Given the description of an element on the screen output the (x, y) to click on. 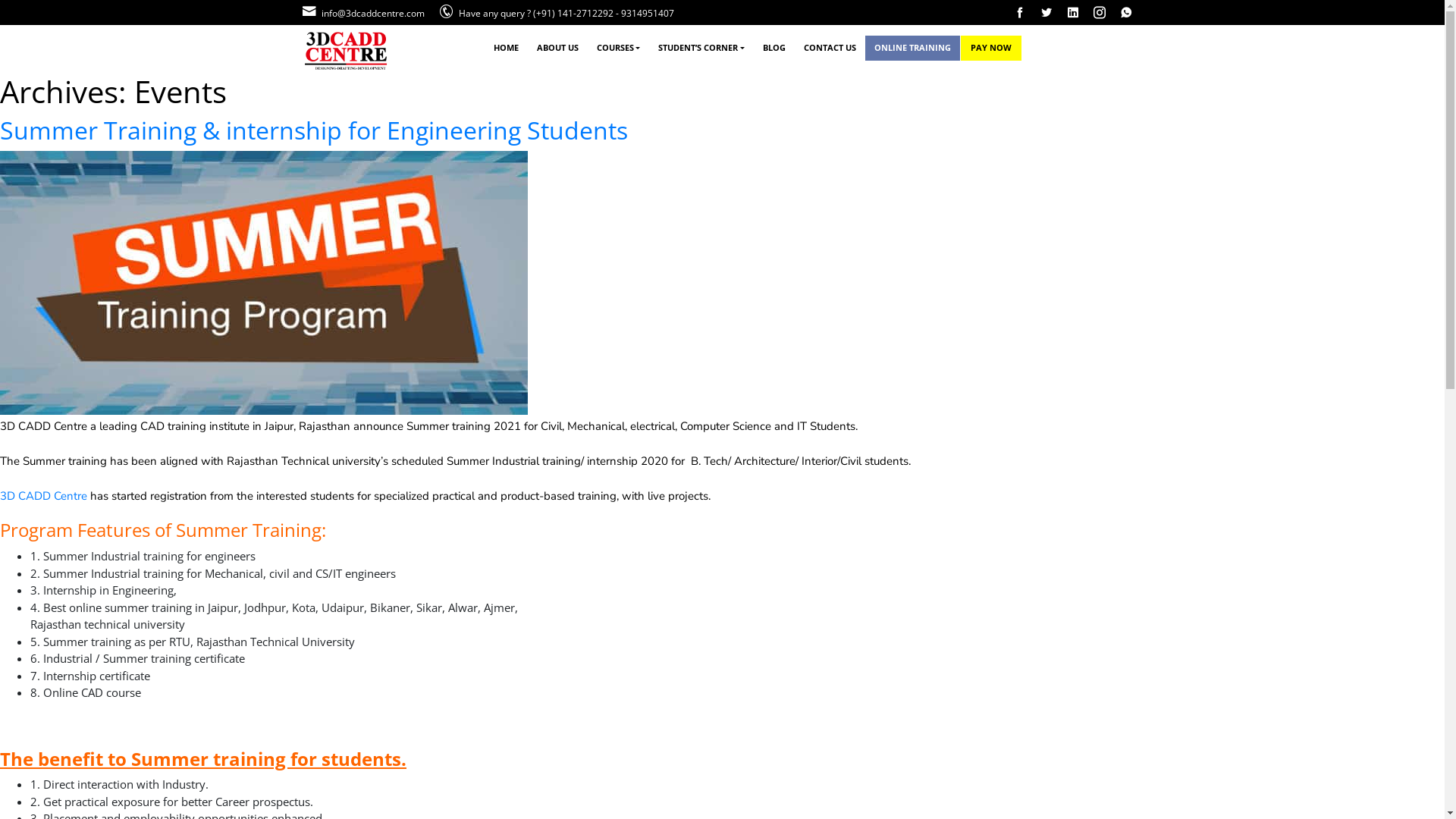
BLOG Element type: text (773, 47)
HOME Element type: text (505, 47)
ONLINE TRAINING Element type: text (912, 47)
ABOUT US Element type: text (557, 47)
Summer Training & internship for Engineering Students Element type: text (313, 129)
3D CADD Centre Element type: text (43, 495)
COURSES Element type: text (617, 47)
CONTACT US Element type: text (829, 47)
PAY NOW Element type: text (990, 47)
